Given the description of an element on the screen output the (x, y) to click on. 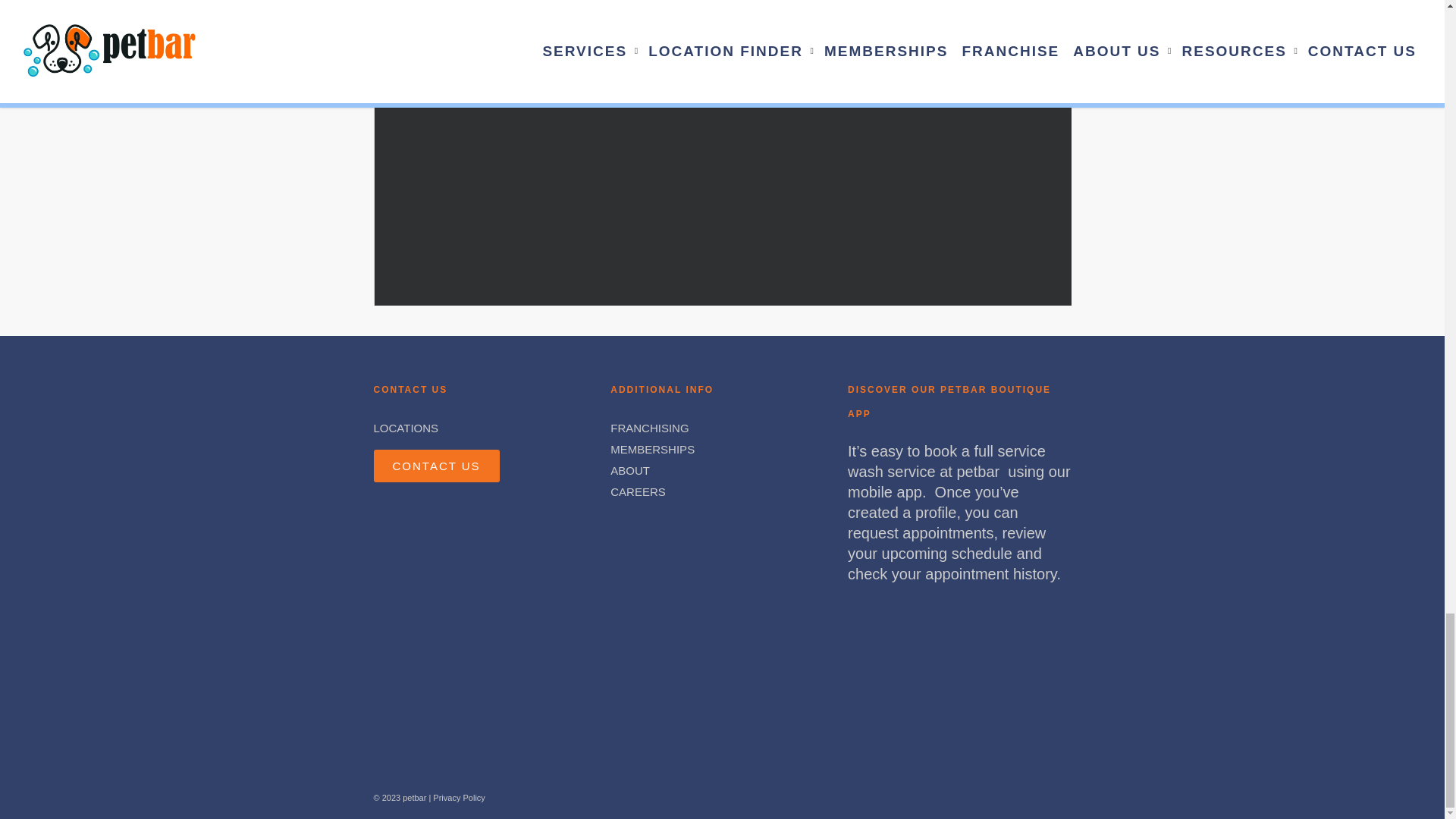
LOCATIONS (405, 427)
CONTACT US (435, 465)
